Given the description of an element on the screen output the (x, y) to click on. 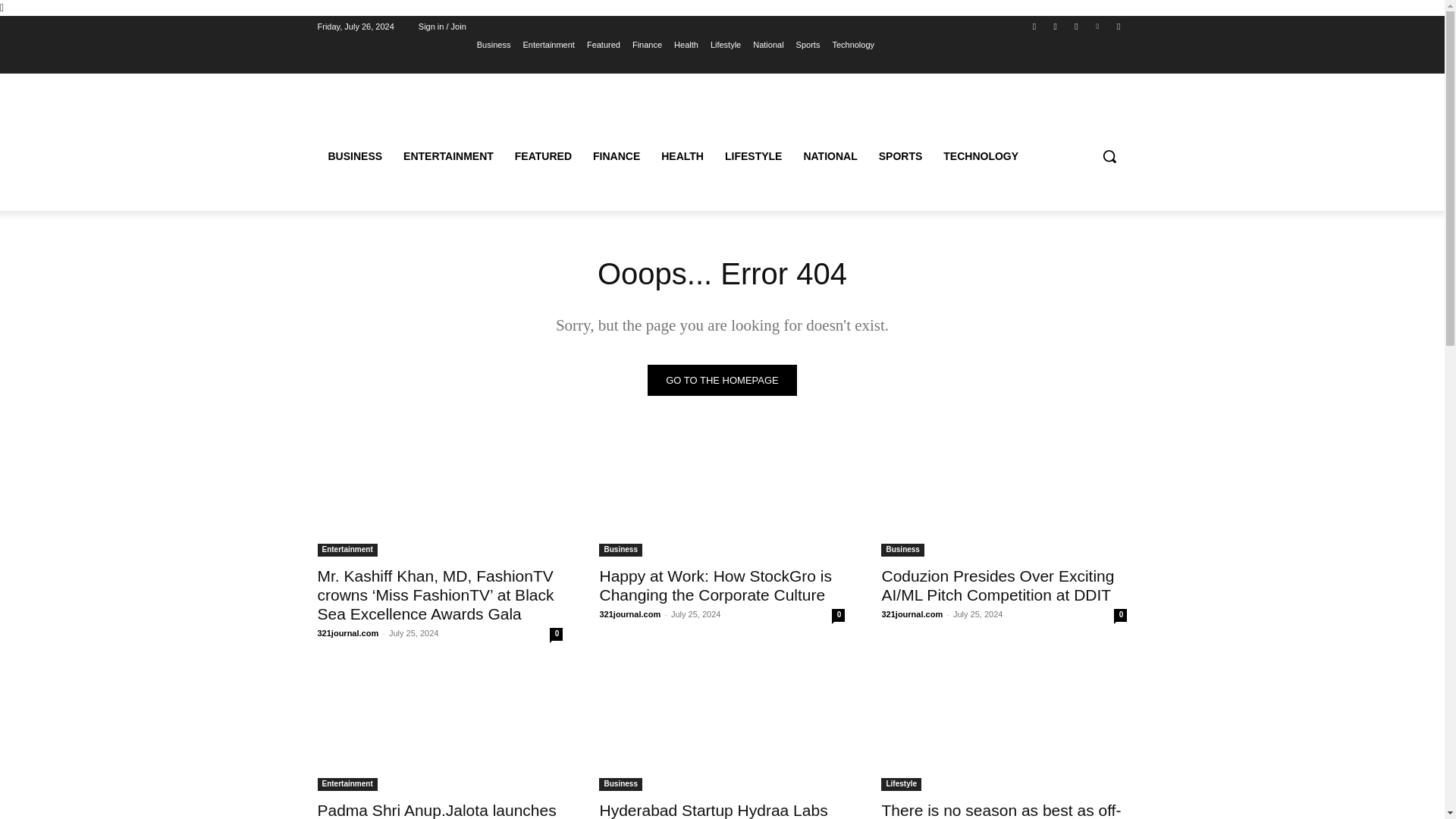
National (767, 44)
HEALTH (682, 156)
Lifestyle (725, 44)
Entertainment (547, 44)
Instagram (1055, 27)
NATIONAL (829, 156)
LIFESTYLE (753, 156)
Facebook (1034, 27)
SPORTS (900, 156)
Business (494, 44)
Vimeo (1097, 27)
Youtube (1117, 27)
Sports (808, 44)
FINANCE (616, 156)
